Given the description of an element on the screen output the (x, y) to click on. 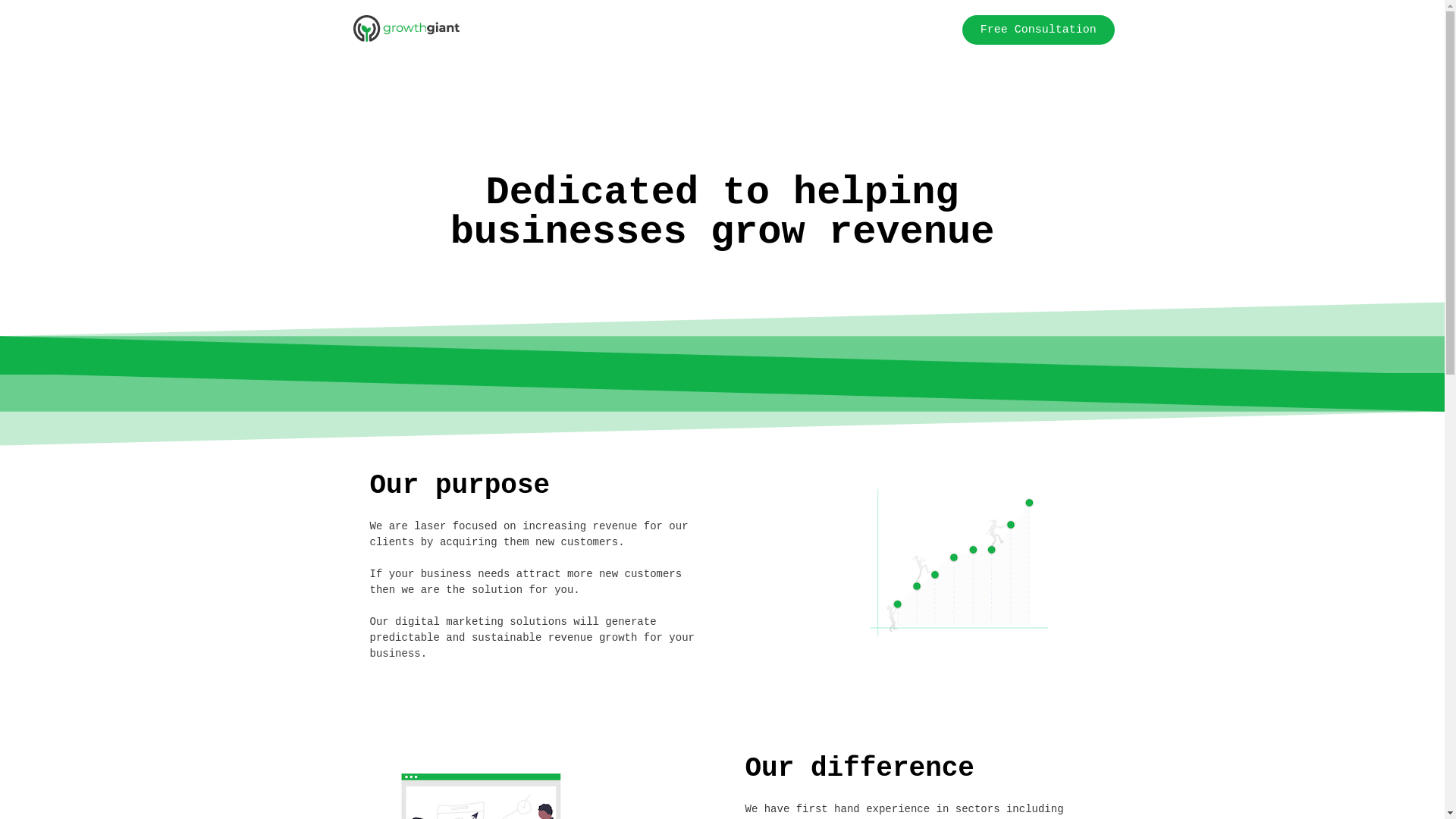
Free Consultation Element type: text (1038, 29)
